Given the description of an element on the screen output the (x, y) to click on. 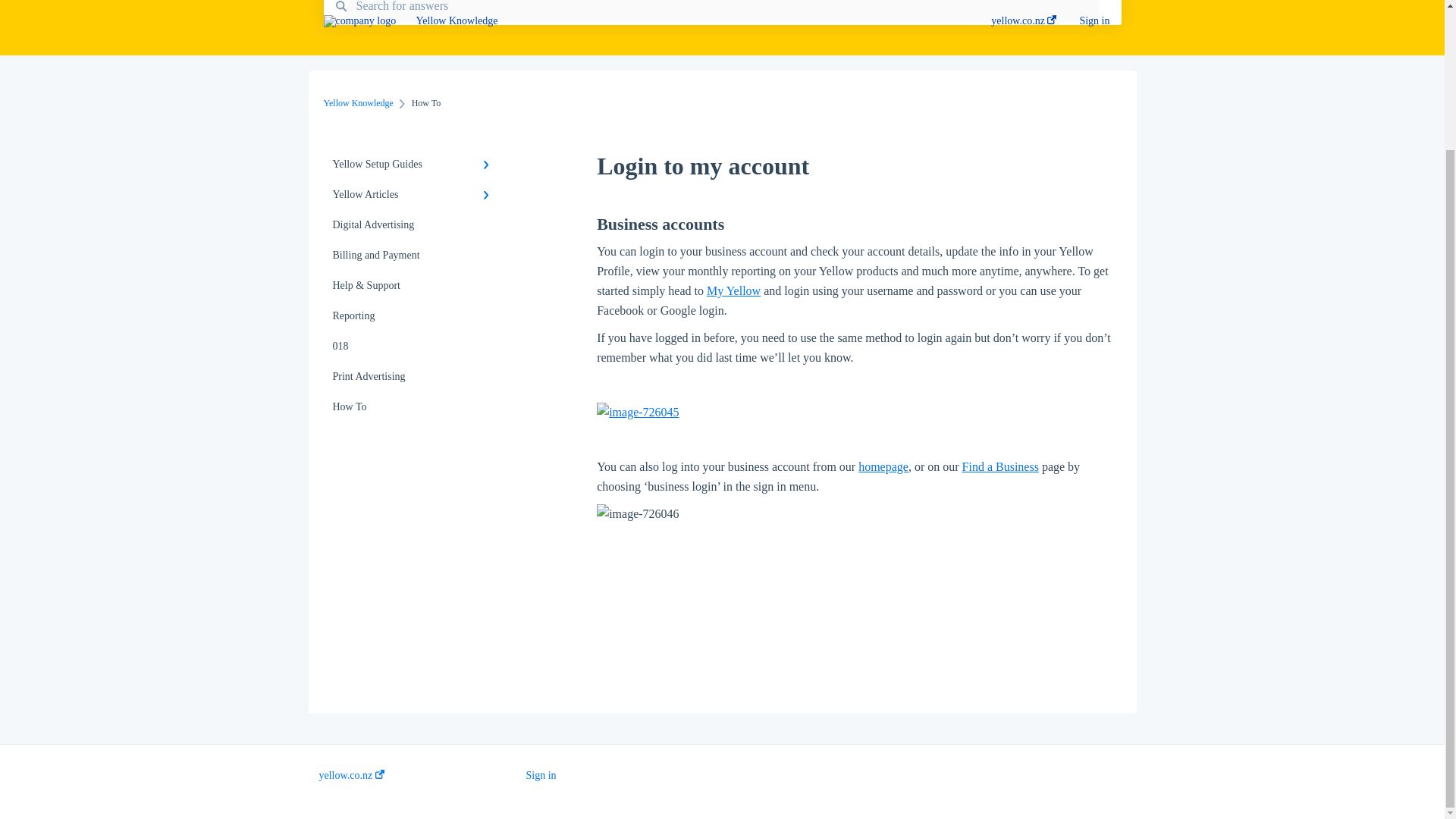
How To (414, 407)
Reporting (414, 316)
018 (414, 346)
yellow.co.nz (351, 775)
Yellow Articles (414, 194)
Yellow Setup Guides (414, 164)
My Yellow (733, 290)
Yellow Knowledge (358, 102)
Print Advertising (414, 376)
Find a Business (1000, 466)
Billing and Payment (414, 255)
Digital Advertising (414, 224)
homepage (883, 466)
